Given the description of an element on the screen output the (x, y) to click on. 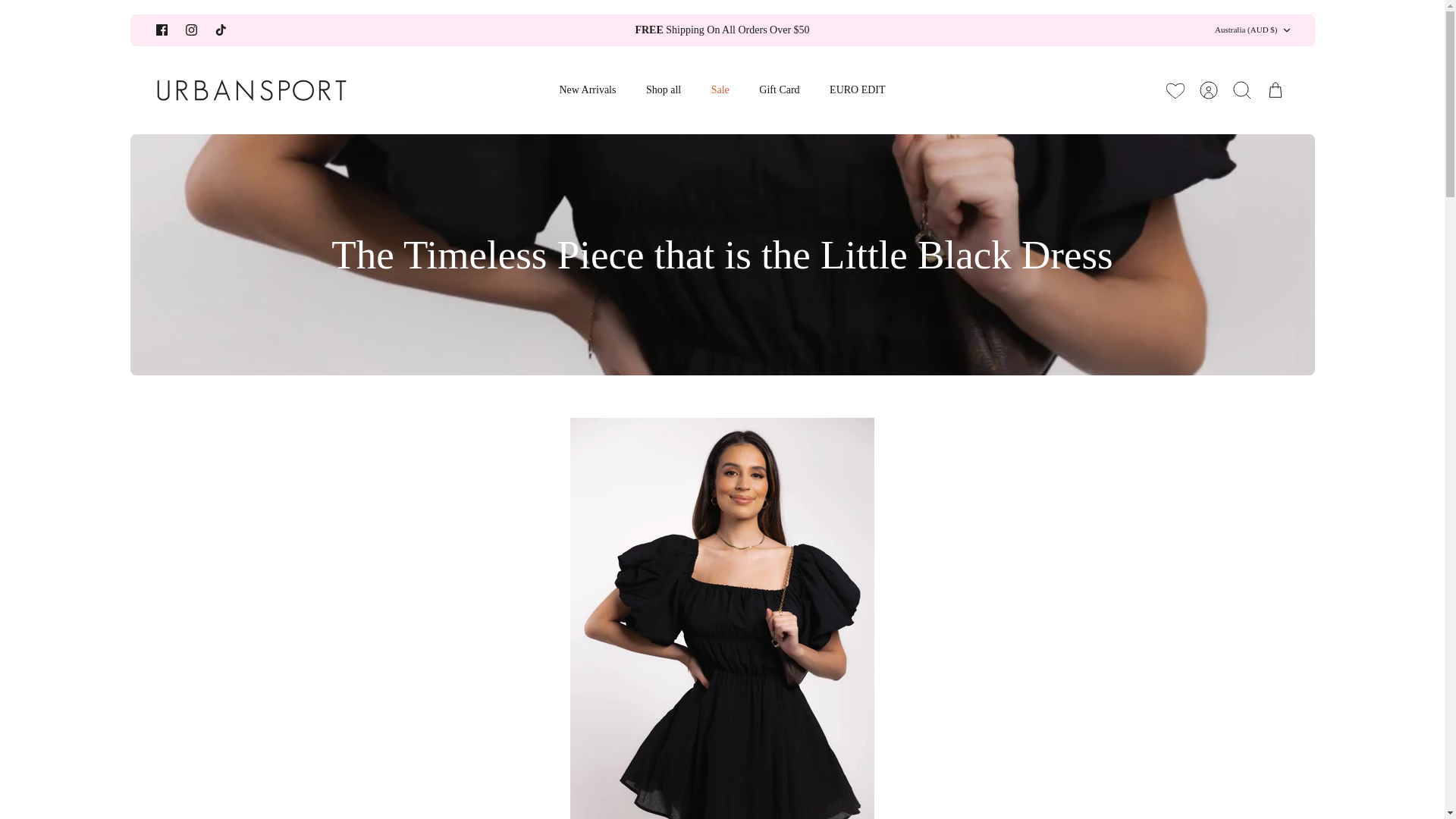
Facebook (161, 29)
Instagram (190, 29)
Facebook (161, 30)
UrbanSport (251, 89)
Instagram (190, 30)
